Given the description of an element on the screen output the (x, y) to click on. 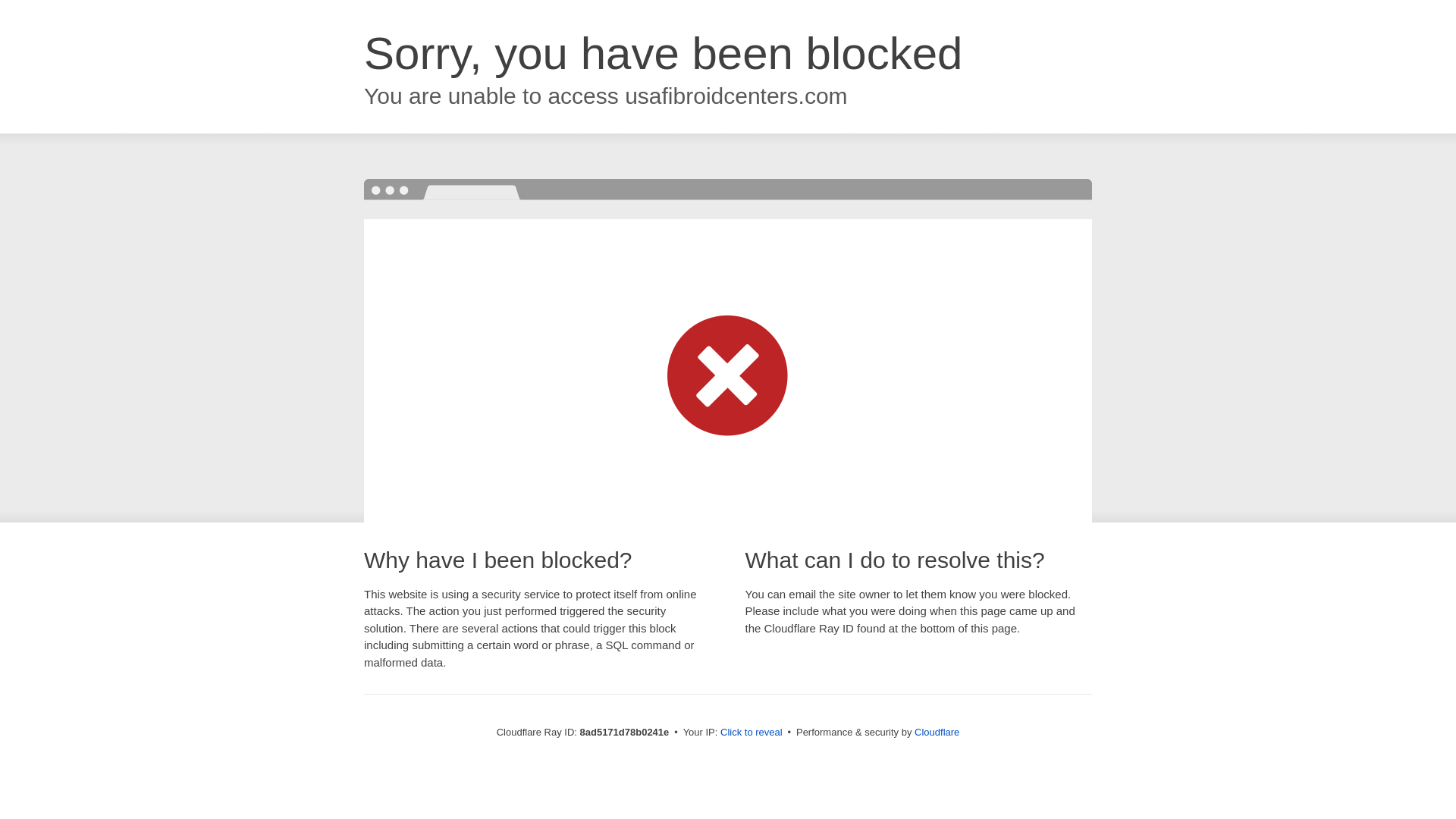
Cloudflare (936, 731)
Click to reveal (751, 732)
